Given the description of an element on the screen output the (x, y) to click on. 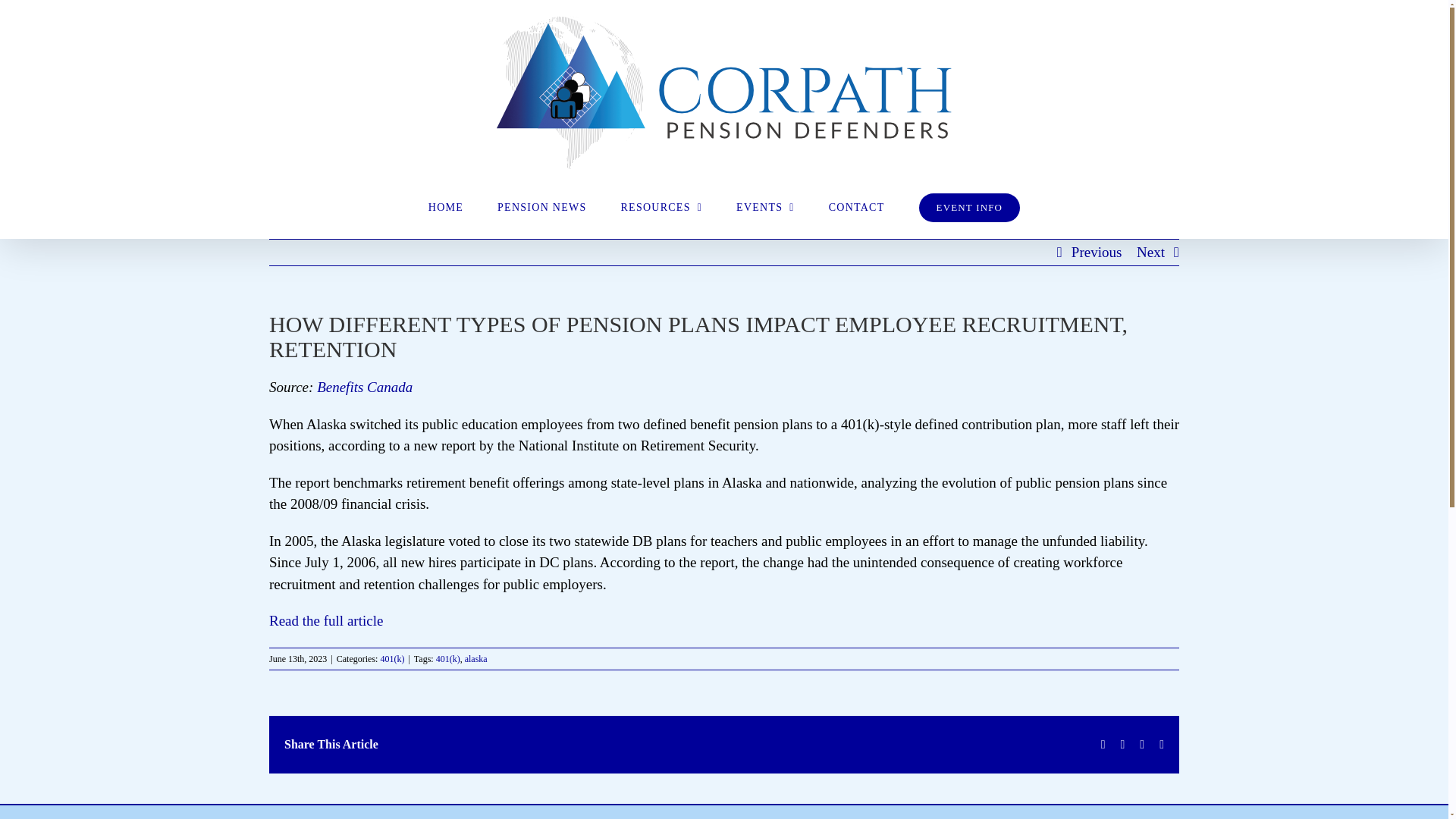
HOME (445, 207)
EVENTS (765, 207)
PENSION NEWS (541, 207)
RESOURCES (660, 207)
